Given the description of an element on the screen output the (x, y) to click on. 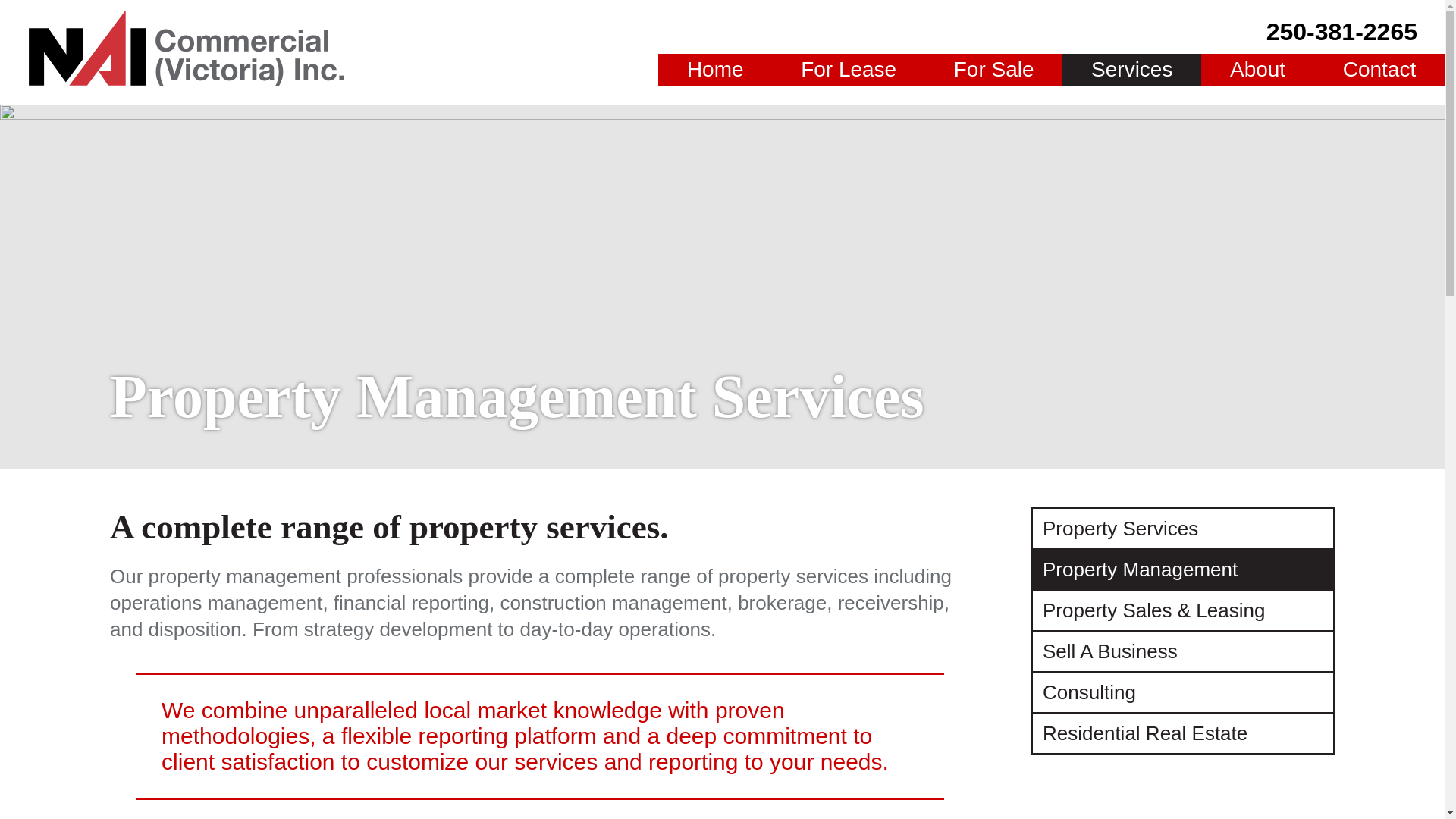
Residential Real Estate (1182, 732)
250-381-2265 (1341, 31)
Property Services (1182, 528)
Consulting (1182, 692)
About (1257, 69)
Services (1131, 69)
Home (714, 69)
Sell A Business (1182, 651)
For Sale (993, 69)
For Lease (847, 69)
Property Management (1182, 569)
